Given the description of an element on the screen output the (x, y) to click on. 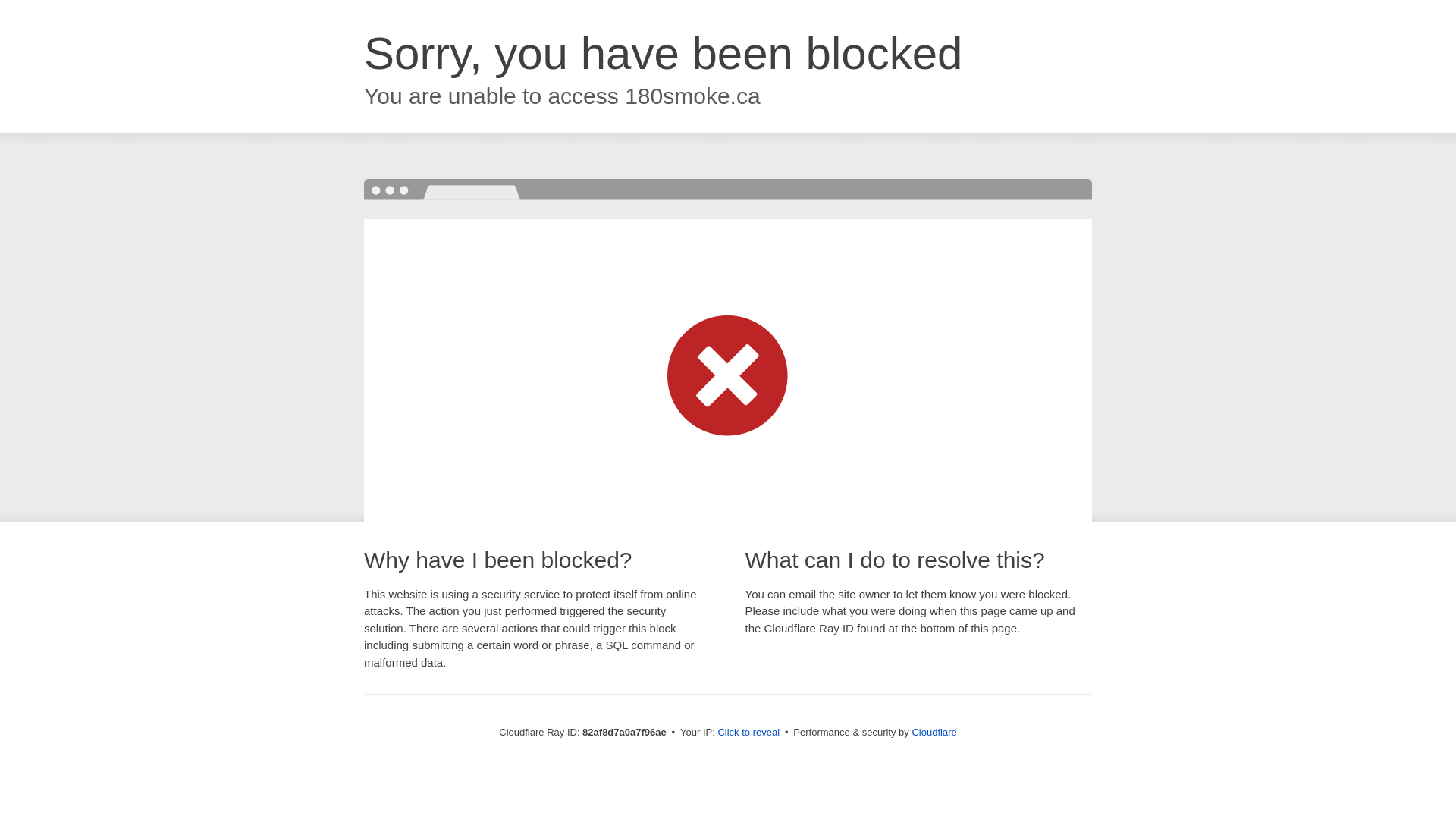
Cloudflare Element type: text (933, 731)
Click to reveal Element type: text (748, 732)
